Given the description of an element on the screen output the (x, y) to click on. 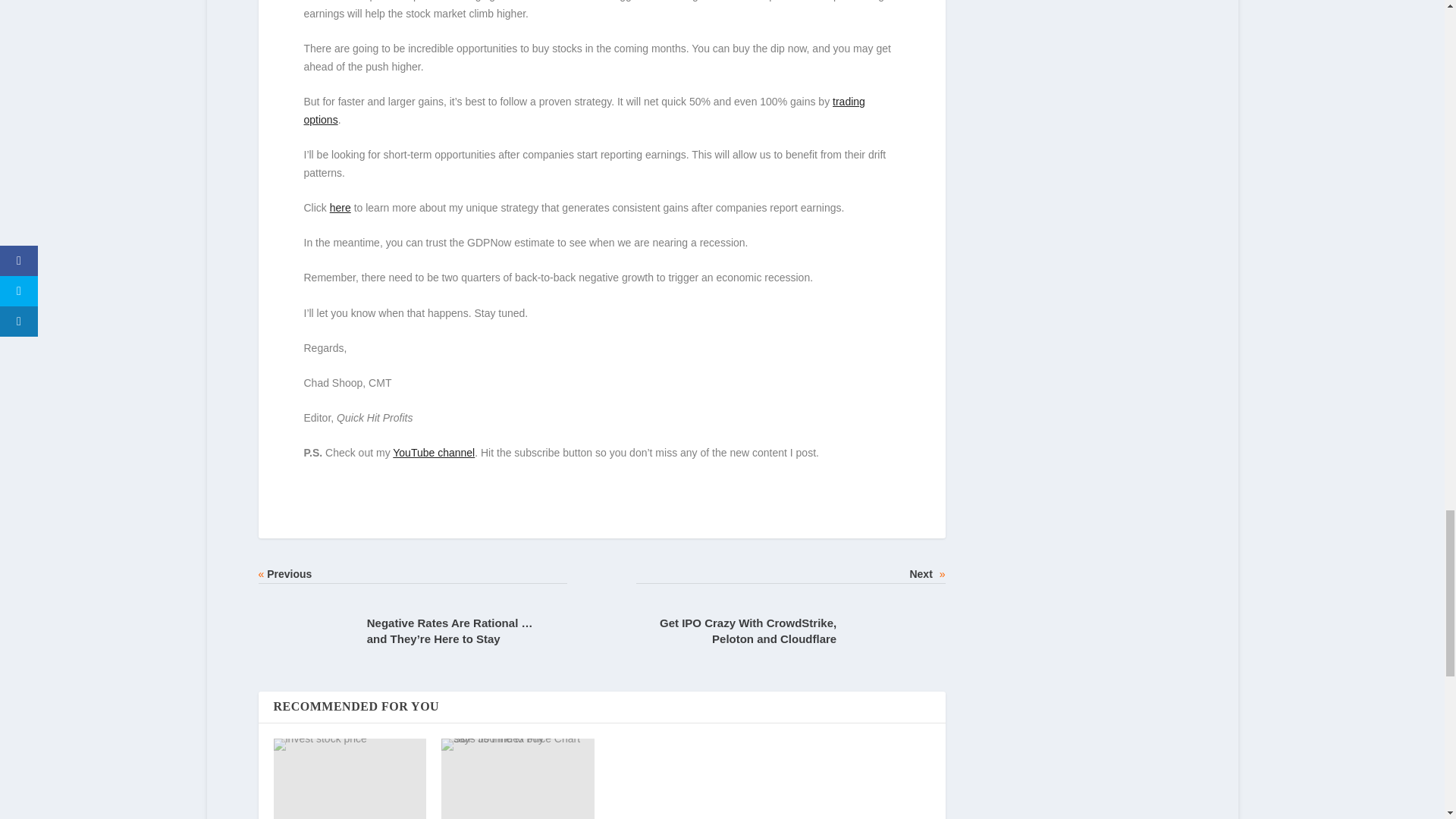
trading options (583, 110)
here (340, 207)
YouTube channel (433, 452)
Invest When This Price Is Near Zero for the Biggest Profits (349, 778)
